Given the description of an element on the screen output the (x, y) to click on. 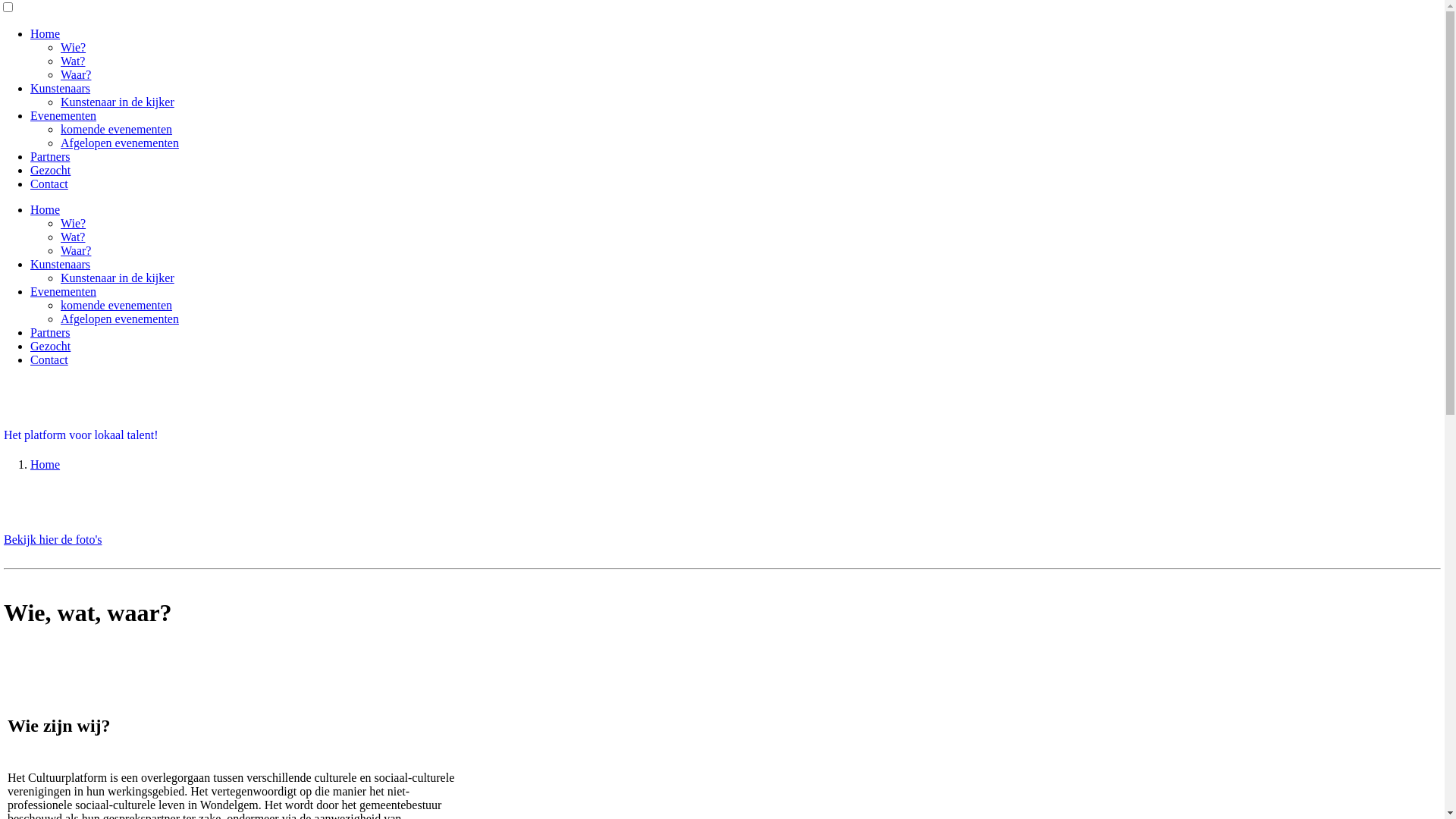
Evenementen Element type: text (63, 115)
Home Element type: text (44, 209)
Afgelopen evenementen Element type: text (119, 142)
Kunstenaars Element type: text (60, 87)
Wat? Element type: text (72, 236)
komende evenementen Element type: text (116, 128)
Partners Element type: text (49, 156)
Wie? Element type: text (72, 46)
Home Element type: text (44, 33)
komende evenementen Element type: text (116, 304)
Contact Element type: text (49, 359)
Home Element type: text (44, 464)
Afgelopen evenementen Element type: text (119, 318)
Waar? Element type: text (75, 74)
Contact Element type: text (49, 183)
Gezocht Element type: text (50, 169)
Kunstenaar in de kijker Element type: text (117, 277)
Kunstenaar in de kijker Element type: text (117, 101)
Wat? Element type: text (72, 60)
Evenementen Element type: text (63, 291)
Kunstenaars Element type: text (60, 263)
Het platform voor lokaal talent! Element type: text (80, 434)
Wie? Element type: text (72, 222)
Bekijk hier de foto's Element type: text (52, 539)
Gezocht Element type: text (50, 345)
Waar? Element type: text (75, 250)
Partners Element type: text (49, 332)
